Given the description of an element on the screen output the (x, y) to click on. 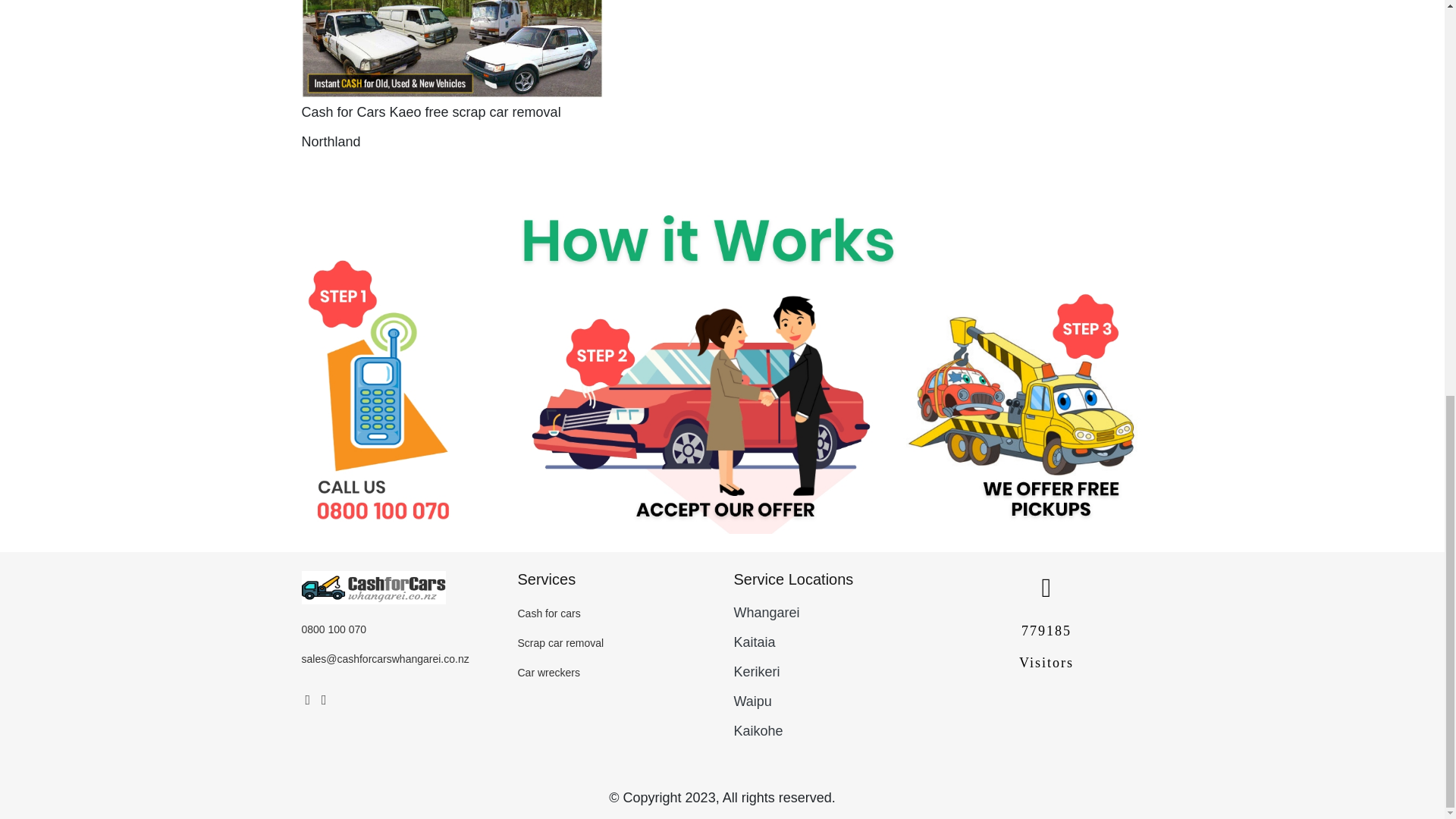
Car wreckers (547, 672)
0800 100 070 (333, 629)
Cash for cars (547, 613)
Scrap car removal (560, 643)
